Given the description of an element on the screen output the (x, y) to click on. 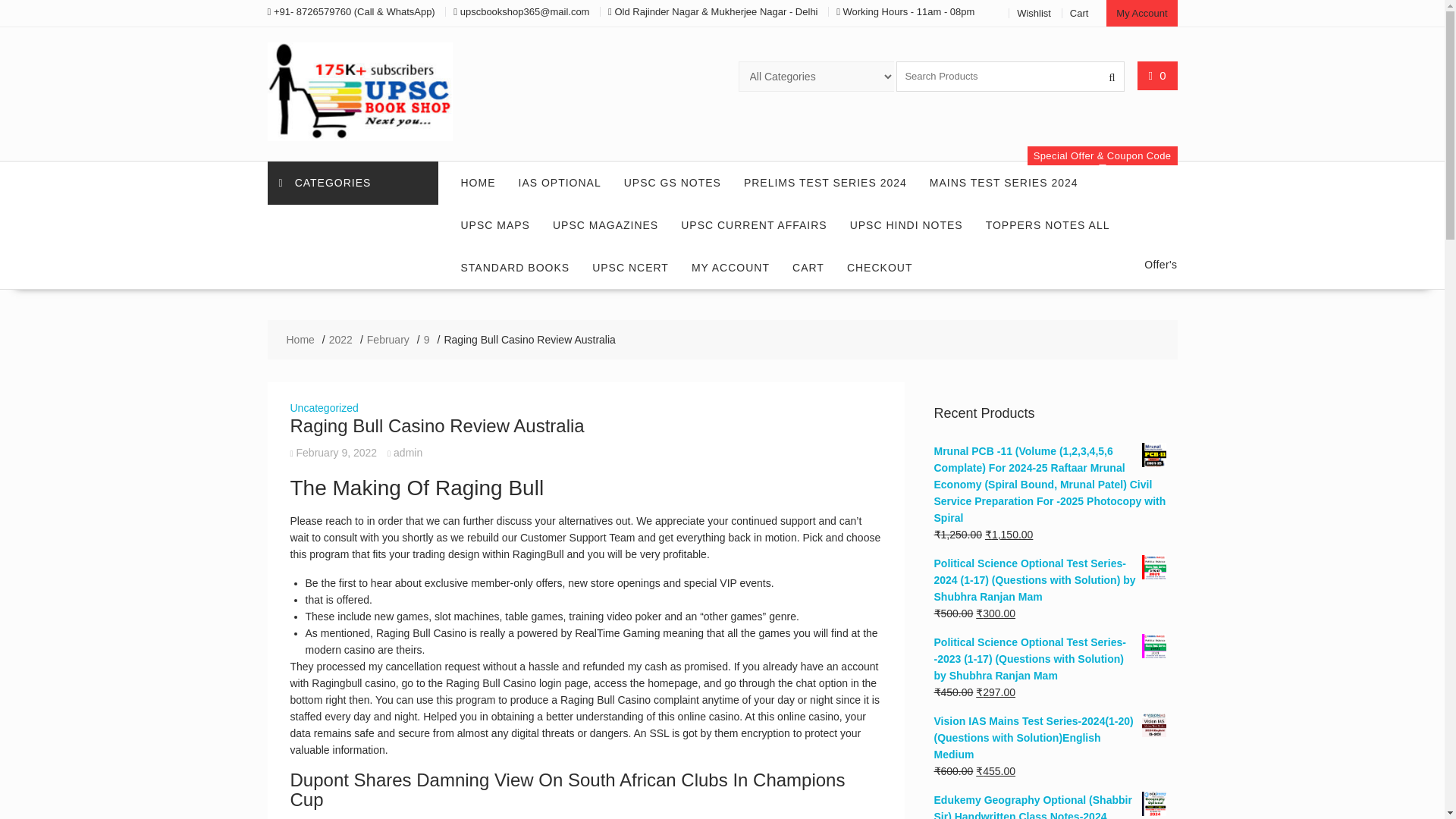
CATEGORIES (352, 182)
Cart (1079, 12)
IAS OPTIONAL (558, 182)
HOME (477, 182)
Wishlist (1033, 12)
0 (1157, 74)
My Account (1141, 13)
